Given the description of an element on the screen output the (x, y) to click on. 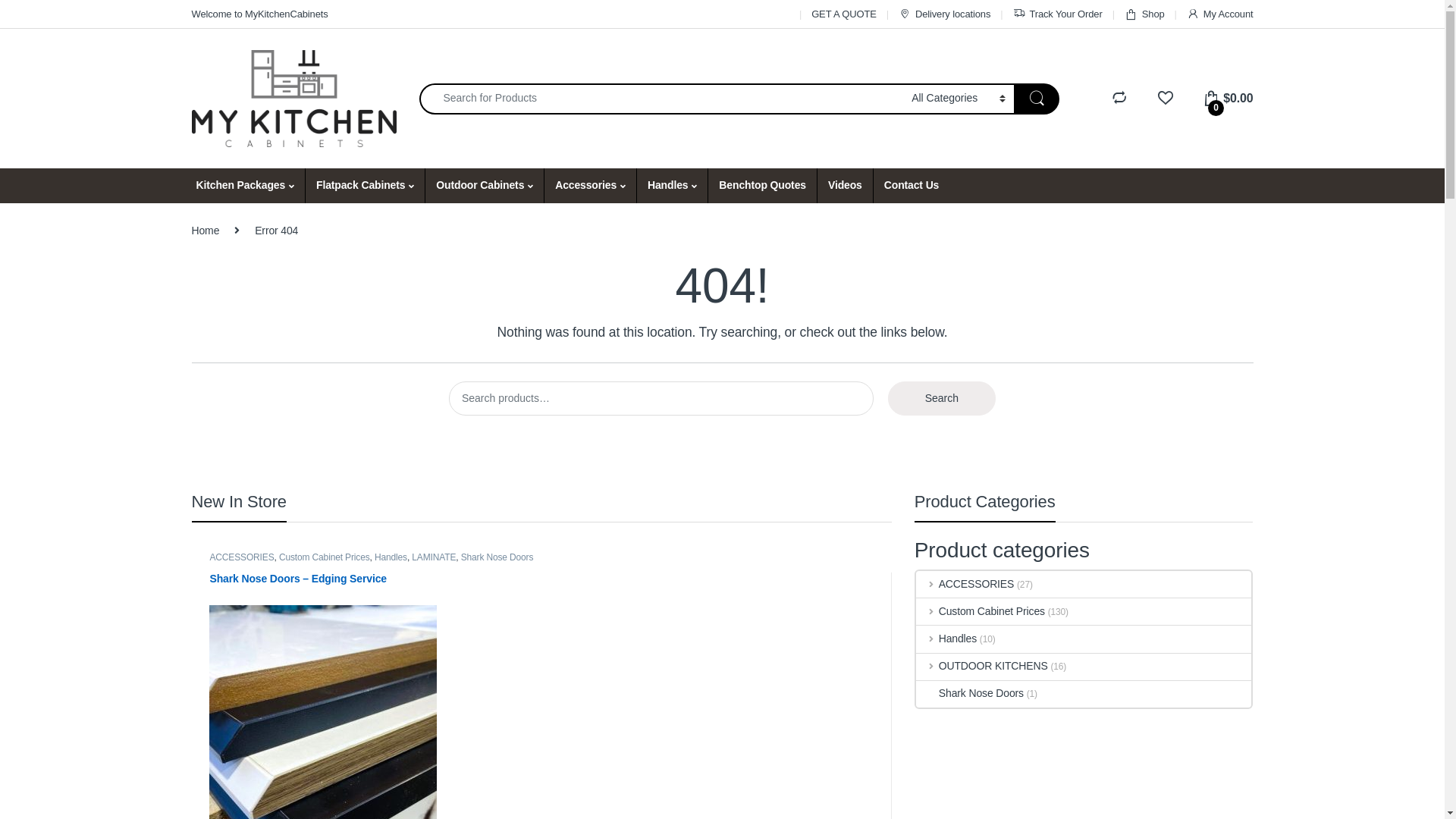
OUTDOOR KITCHENS Element type: text (982, 666)
Custom Cabinet Prices Element type: text (980, 611)
My Account Element type: text (1219, 14)
ACCESSORIES Element type: text (241, 557)
Welcome to MyKitchenCabinets Element type: text (259, 14)
ACCESSORIES Element type: text (964, 584)
Search Element type: text (941, 398)
LAMINATE Element type: text (433, 557)
Handles Element type: text (390, 557)
Flatpack Cabinets Element type: text (364, 185)
Delivery locations Element type: text (944, 14)
Shop Element type: text (1144, 14)
Handles Element type: text (671, 185)
Contact Us Element type: text (911, 185)
Videos Element type: text (844, 185)
Track Your Order Element type: text (1057, 14)
Benchtop Quotes Element type: text (761, 185)
Outdoor Cabinets Element type: text (483, 185)
GET A QUOTE Element type: text (843, 14)
0
$0.00 Element type: text (1227, 97)
Shark Nose Doors Element type: text (969, 693)
Kitchen Packages Element type: text (244, 185)
Shark Nose Doors Element type: text (497, 557)
Home Element type: text (205, 230)
Custom Cabinet Prices Element type: text (324, 557)
Handles Element type: text (946, 638)
Accessories Element type: text (589, 185)
